Given the description of an element on the screen output the (x, y) to click on. 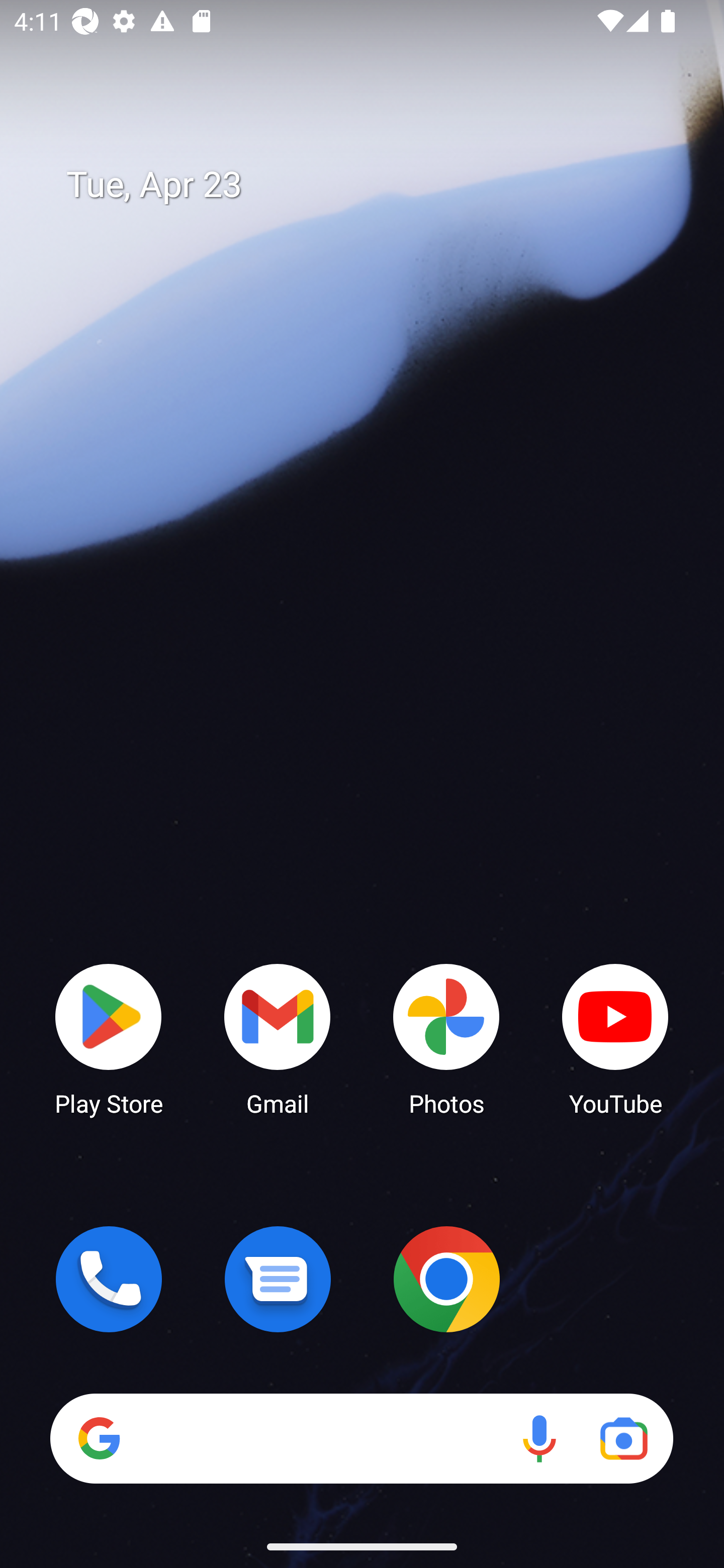
Tue, Apr 23 (375, 184)
Play Store (108, 1038)
Gmail (277, 1038)
Photos (445, 1038)
YouTube (615, 1038)
Phone (108, 1279)
Messages (277, 1279)
Chrome (446, 1279)
Search Voice search Google Lens (361, 1438)
Voice search (539, 1438)
Google Lens (623, 1438)
